Given the description of an element on the screen output the (x, y) to click on. 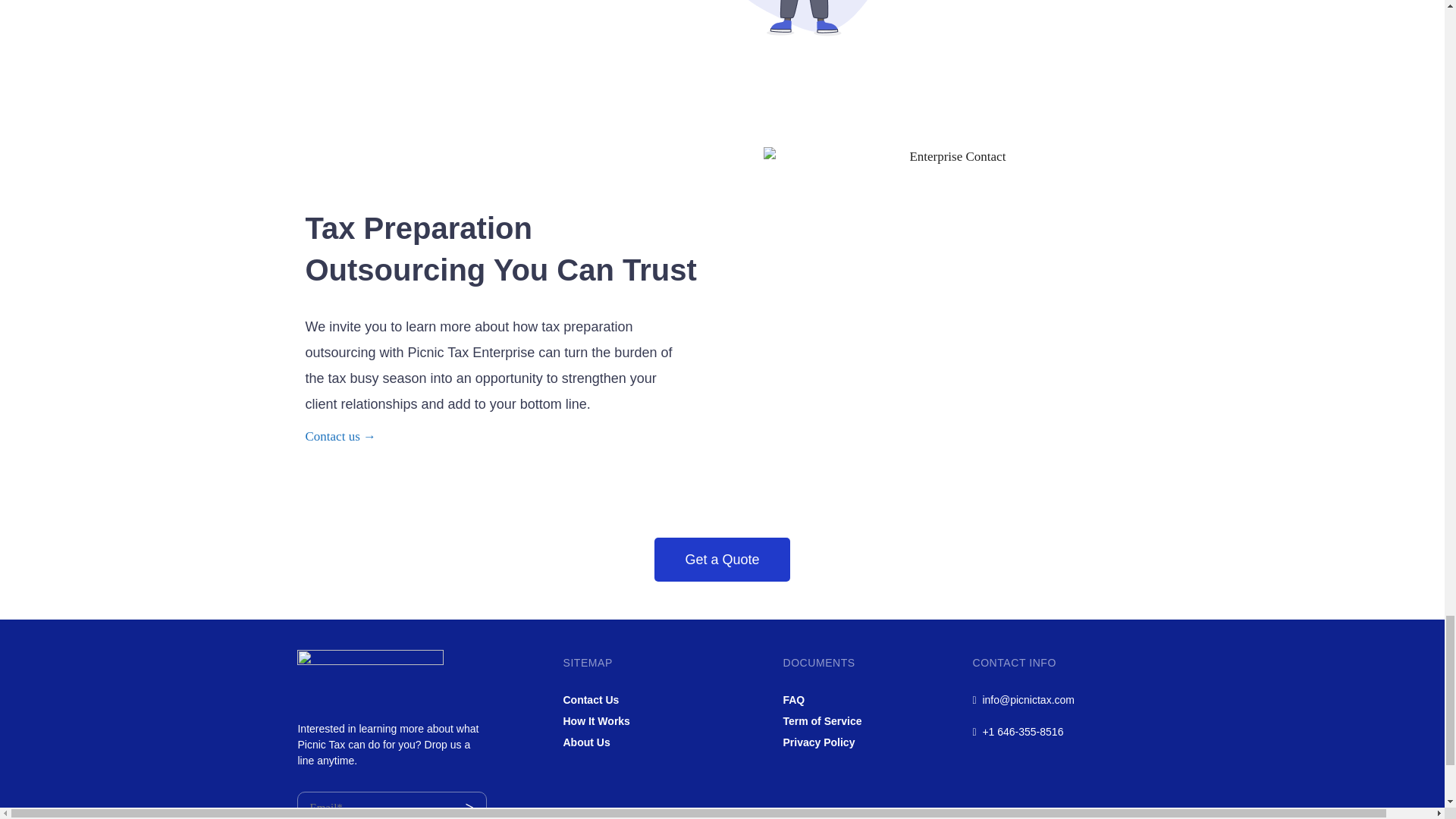
Term of Service (822, 720)
Contact Us (590, 699)
Privacy Policy (818, 742)
Get a Quote (721, 559)
FAQ (794, 699)
How It Works (595, 720)
About Us (586, 742)
